Given the description of an element on the screen output the (x, y) to click on. 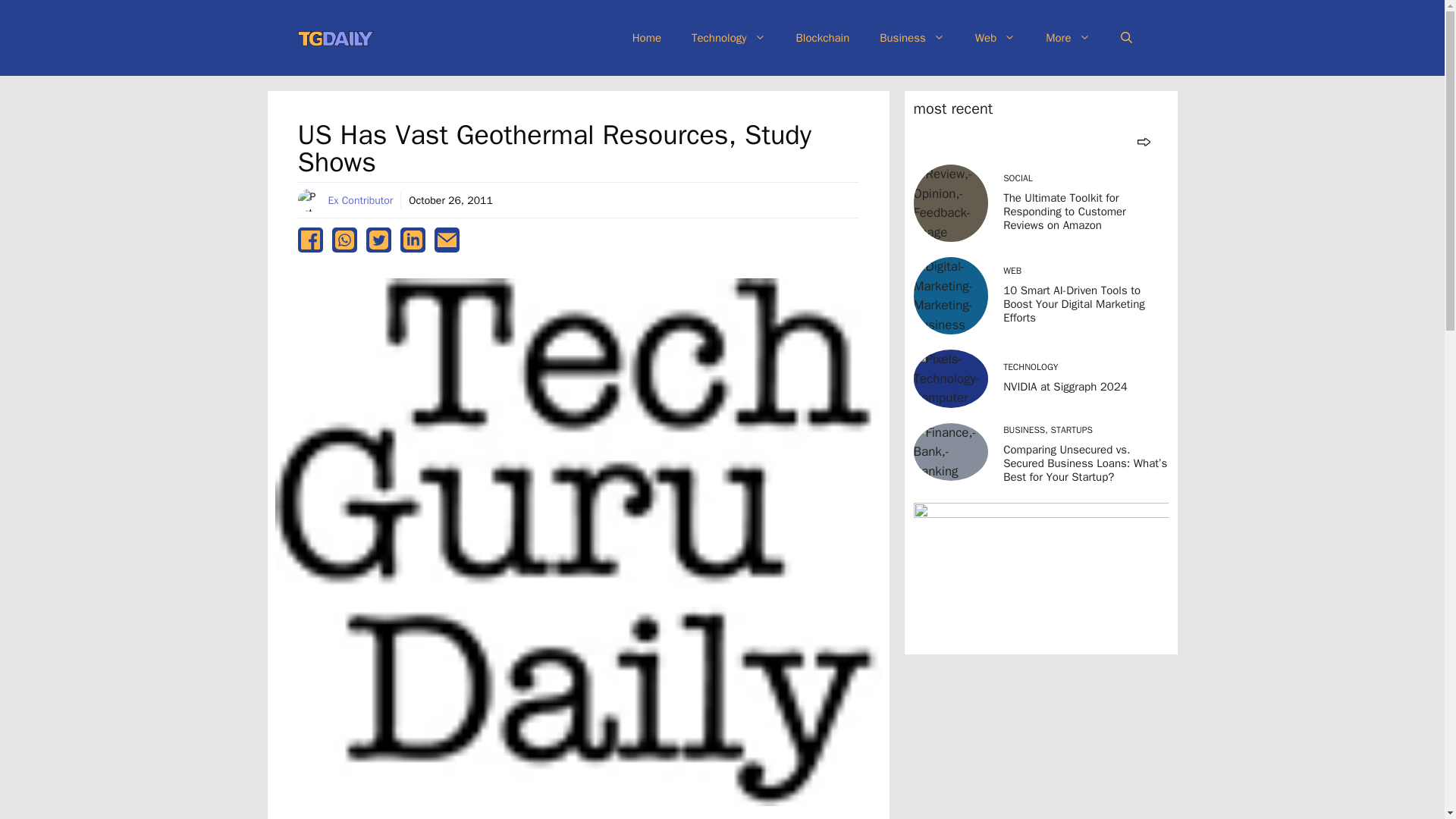
Blockchain (822, 37)
Web (994, 37)
More (1067, 37)
Home (647, 37)
purple-600x400-1 (1039, 573)
Business (911, 37)
Technology (728, 37)
